Given the description of an element on the screen output the (x, y) to click on. 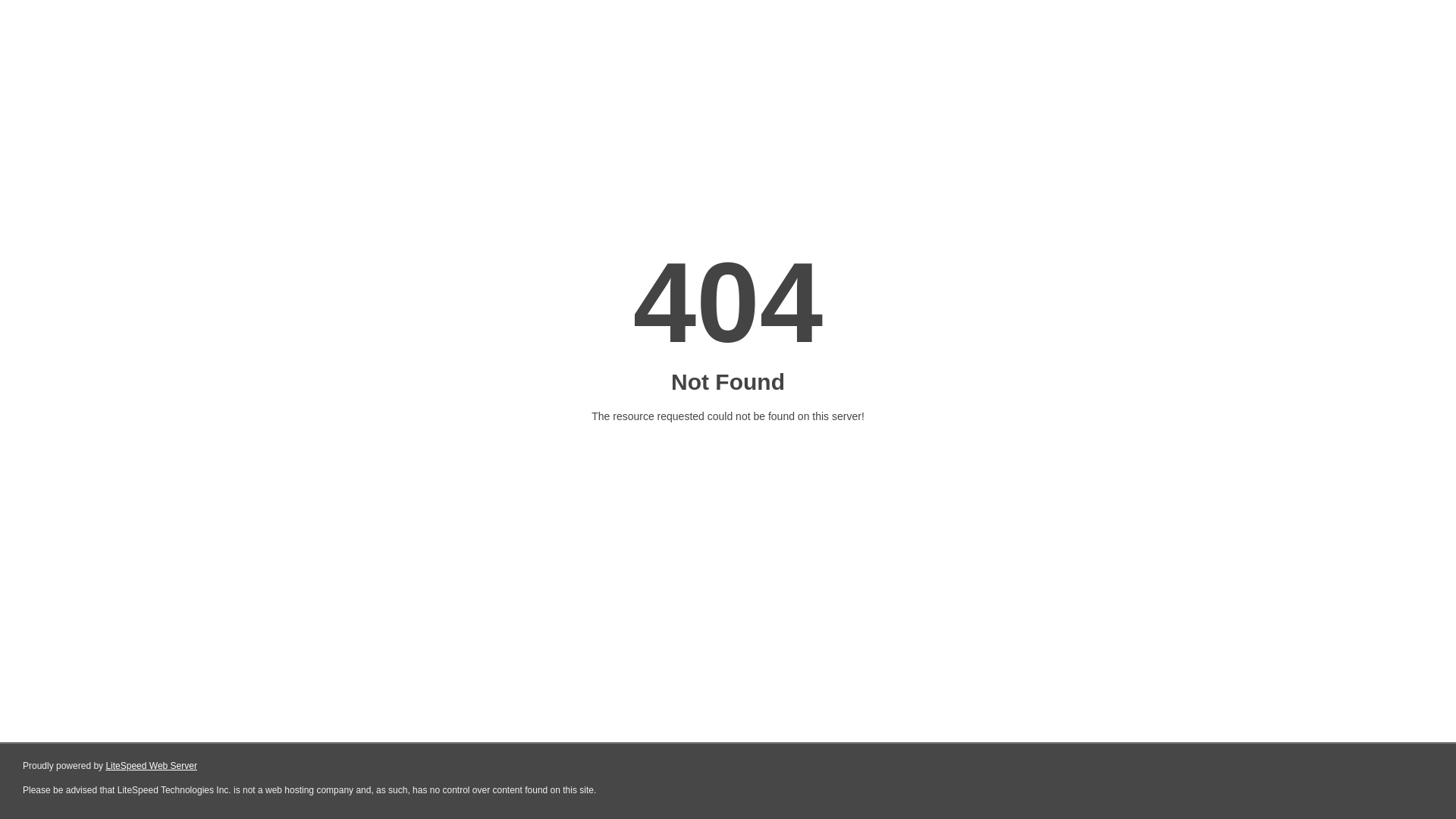
LiteSpeed Web Server Element type: text (151, 765)
